Given the description of an element on the screen output the (x, y) to click on. 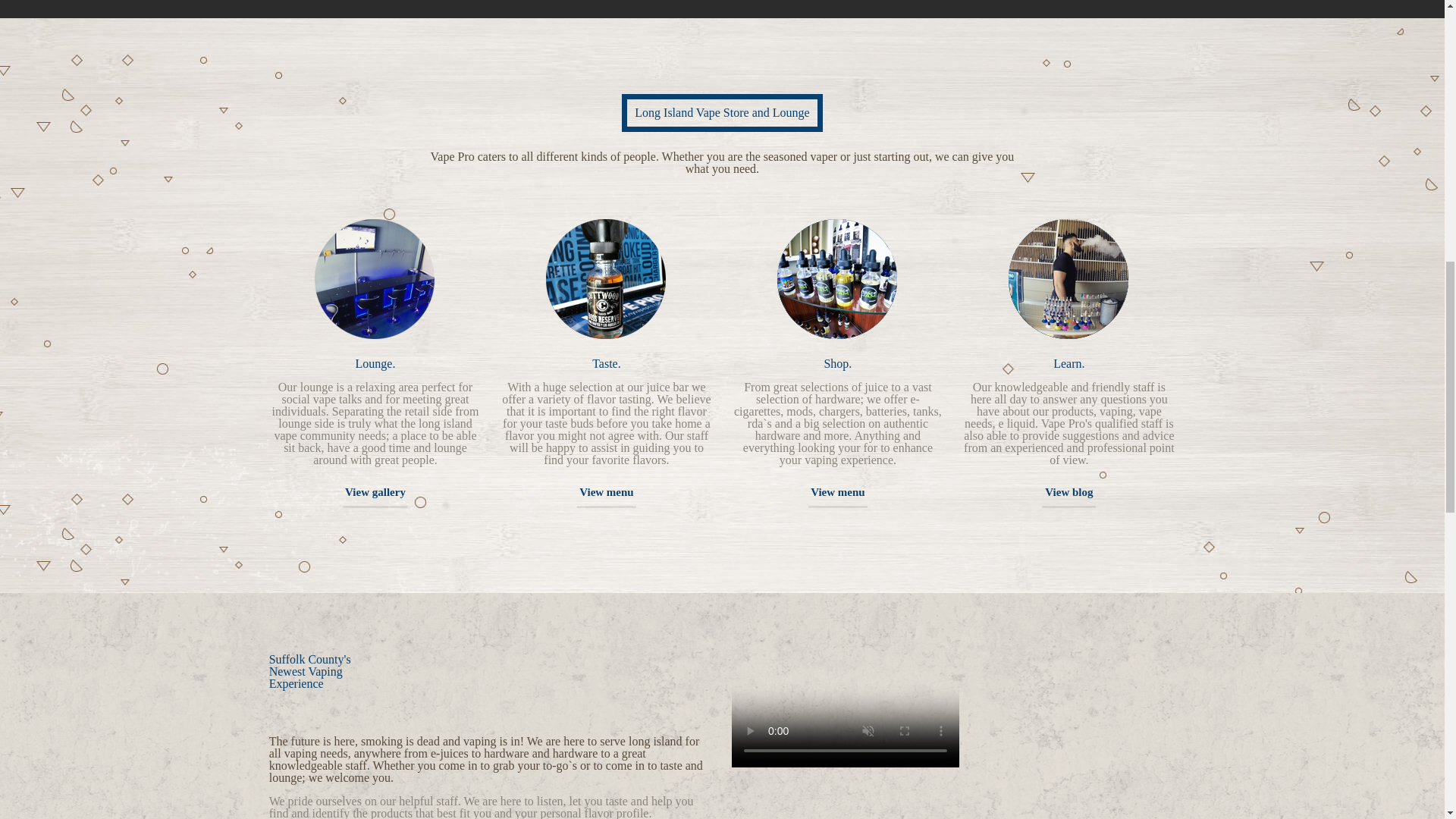
View gallery (375, 491)
View menu (607, 491)
View menu (837, 491)
View blog (1068, 491)
